Given the description of an element on the screen output the (x, y) to click on. 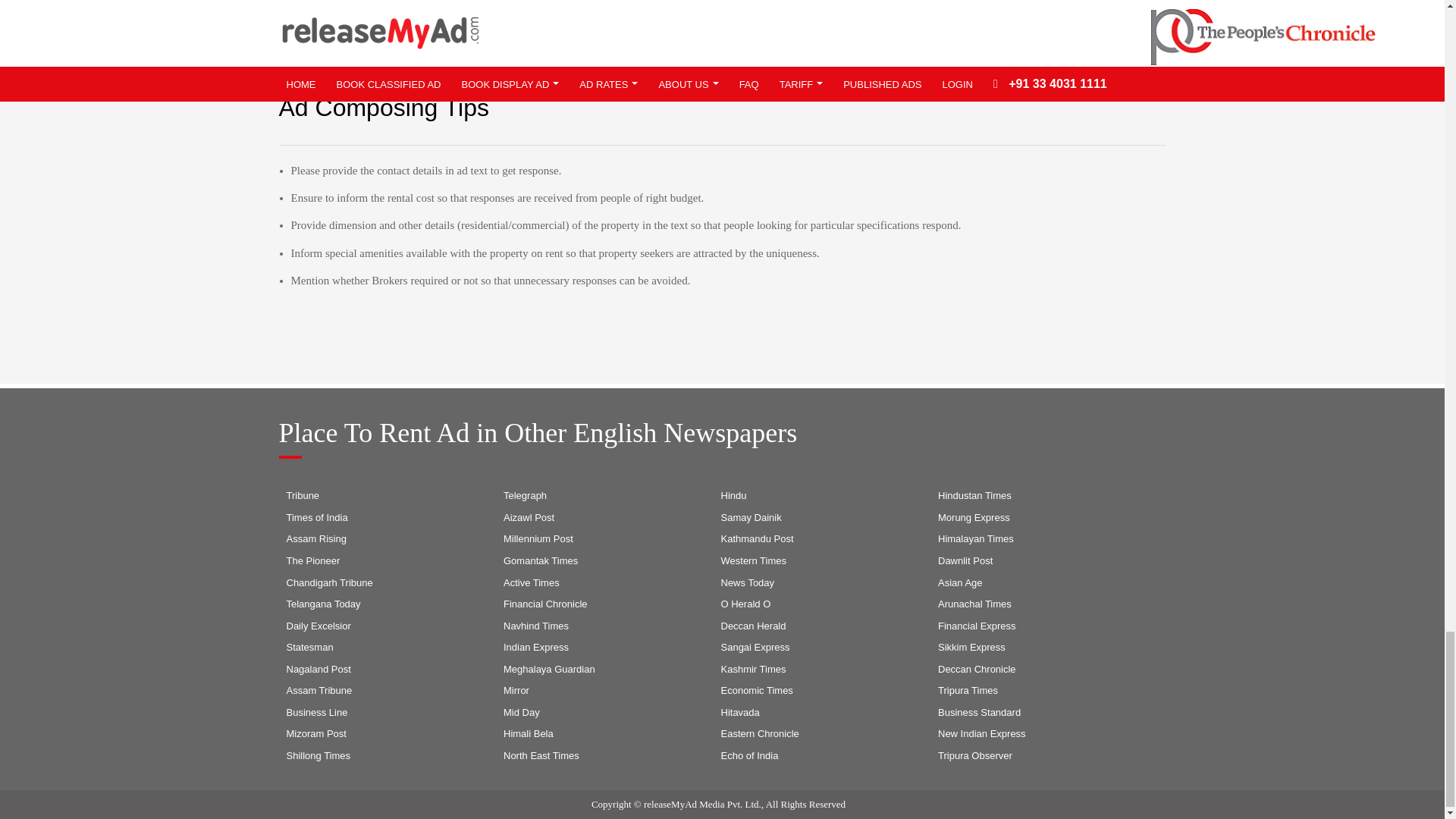
Times-of-India-Newspaper-Ad (316, 518)
Samay-Dainik-Classified-Newspaper-Ad (750, 518)
Hindustan-Times-Newspaper-Ad (974, 495)
Assam-Rising-Classified-Advertisement (316, 539)
Hindu-Newspaper-Ad (732, 495)
Morung-Express-Classifieds-Advertisement (973, 518)
The-Telegraph-Newspaper-Ad (525, 495)
The-Tribune-Newspaper-Ad (303, 495)
Aizawl-Post-Classifieds-Advertisement (528, 518)
